Given the description of an element on the screen output the (x, y) to click on. 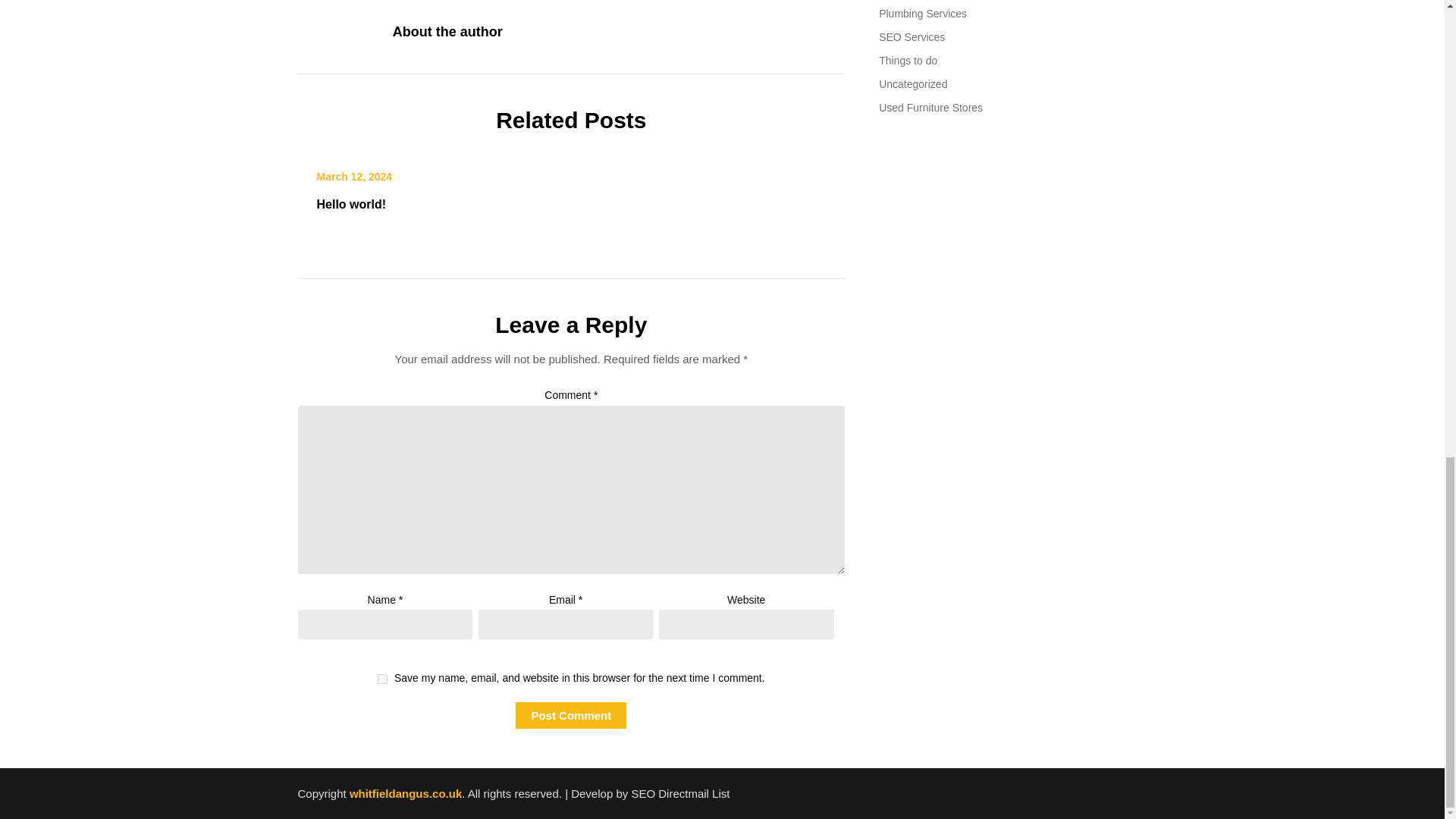
Uncategorized (913, 83)
whitfieldangus.co.uk (405, 793)
SEO Services (911, 37)
Plumbing Services (922, 13)
Used Furniture Stores (930, 107)
yes (382, 678)
Things to do (908, 60)
Hello world! (352, 204)
Post Comment (570, 714)
Post Comment (570, 714)
